Given the description of an element on the screen output the (x, y) to click on. 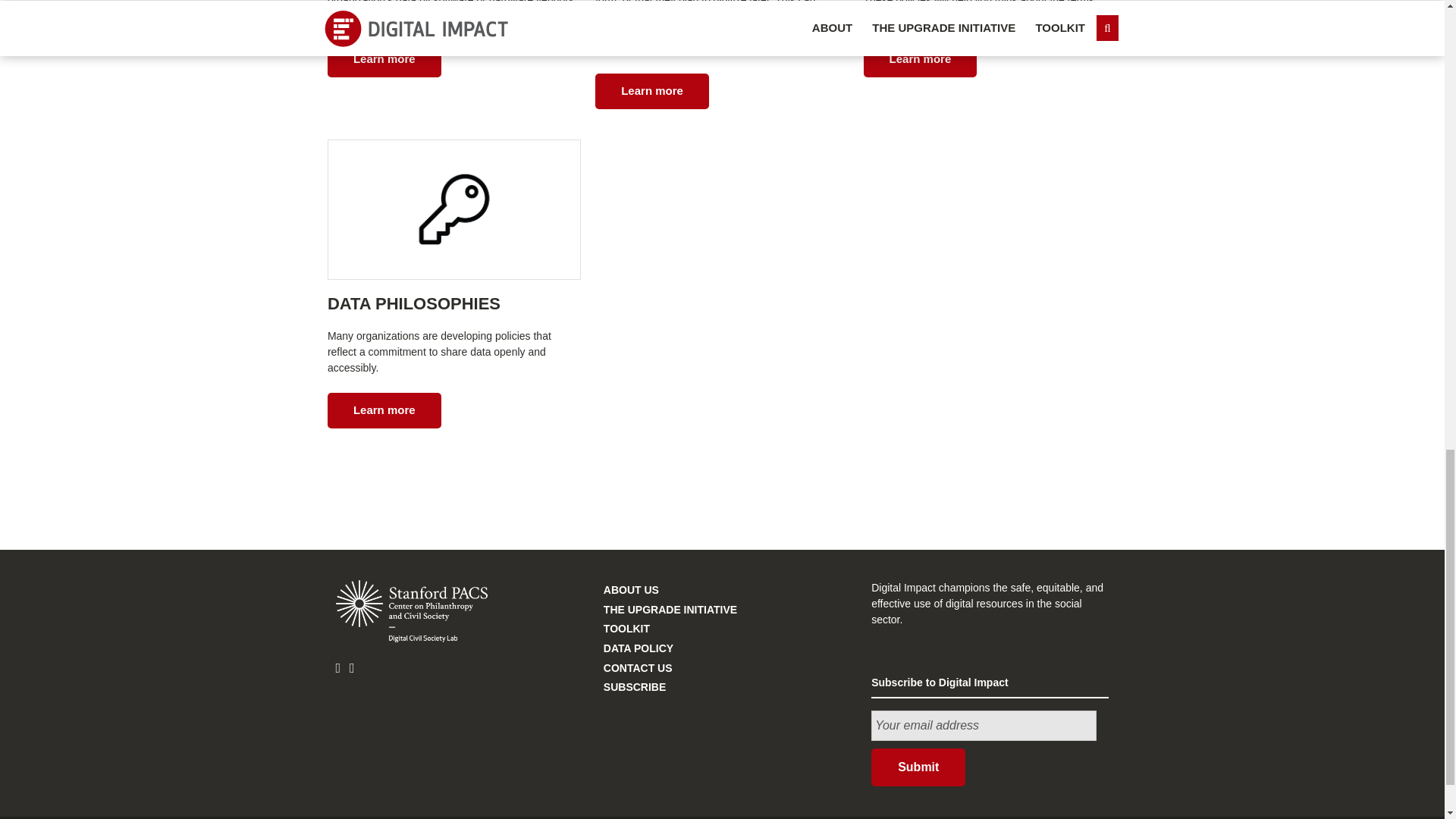
Submit (917, 767)
